Given the description of an element on the screen output the (x, y) to click on. 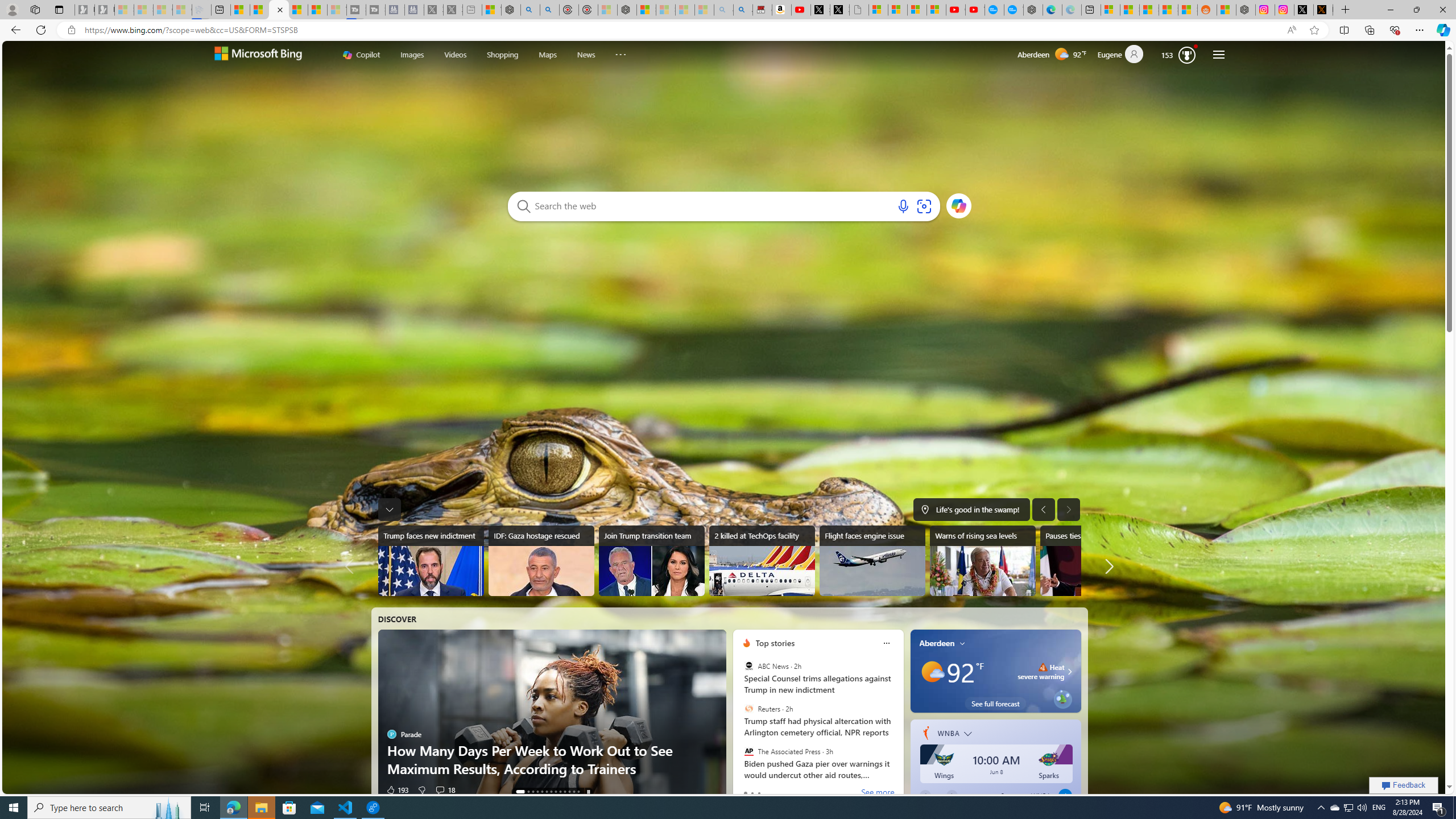
AutomationID: tab-11 (574, 791)
Images (411, 53)
AutomationID: tab-3 (537, 791)
News (585, 53)
More (620, 51)
Next image (1068, 508)
Day 1: Arriving in Yemen (surreal to be here) - YouTube (800, 9)
Nordace - Nordace has arrived Hong Kong (1033, 9)
Copilot (361, 54)
